Given the description of an element on the screen output the (x, y) to click on. 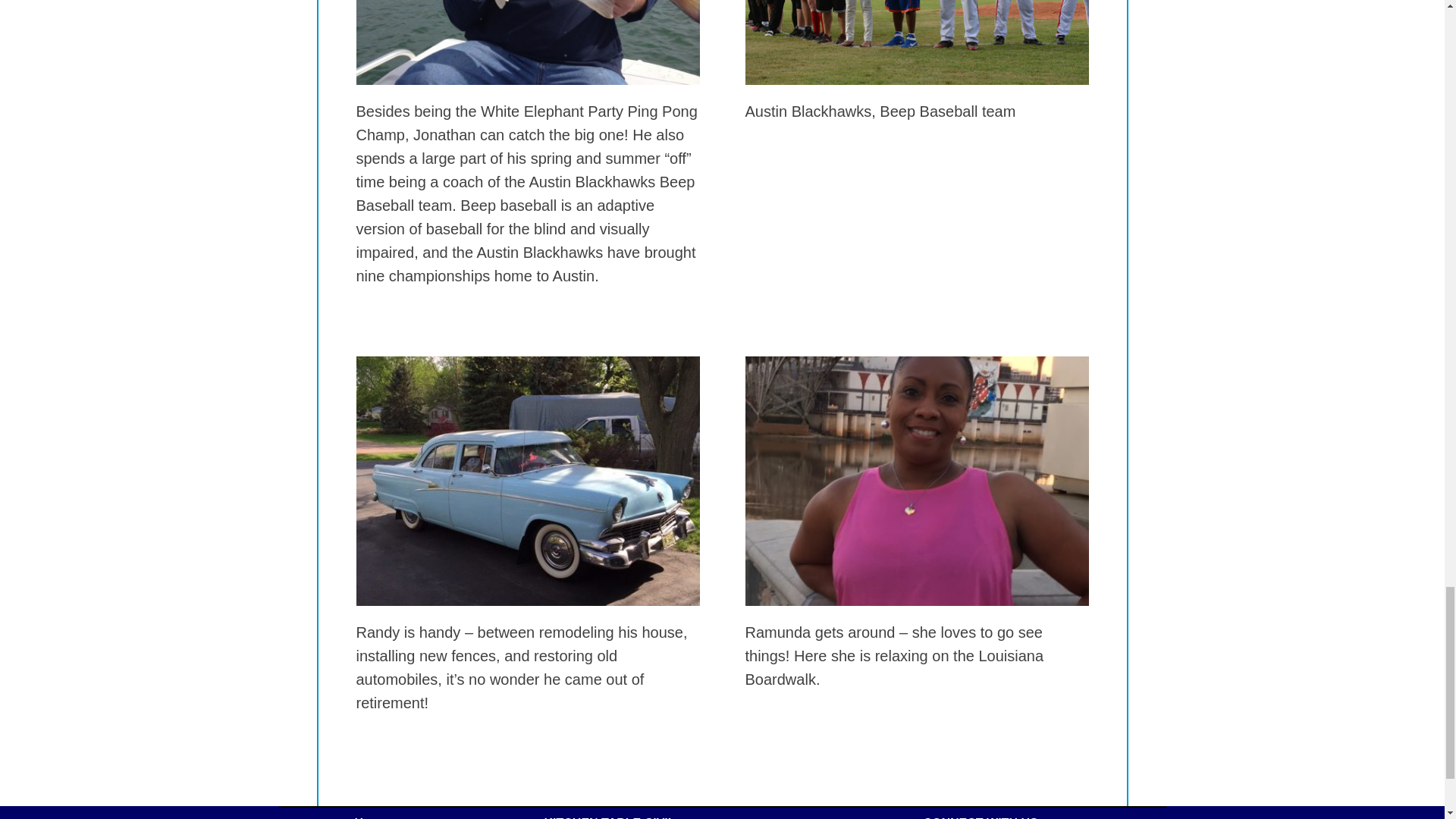
Home (371, 817)
